Given the description of an element on the screen output the (x, y) to click on. 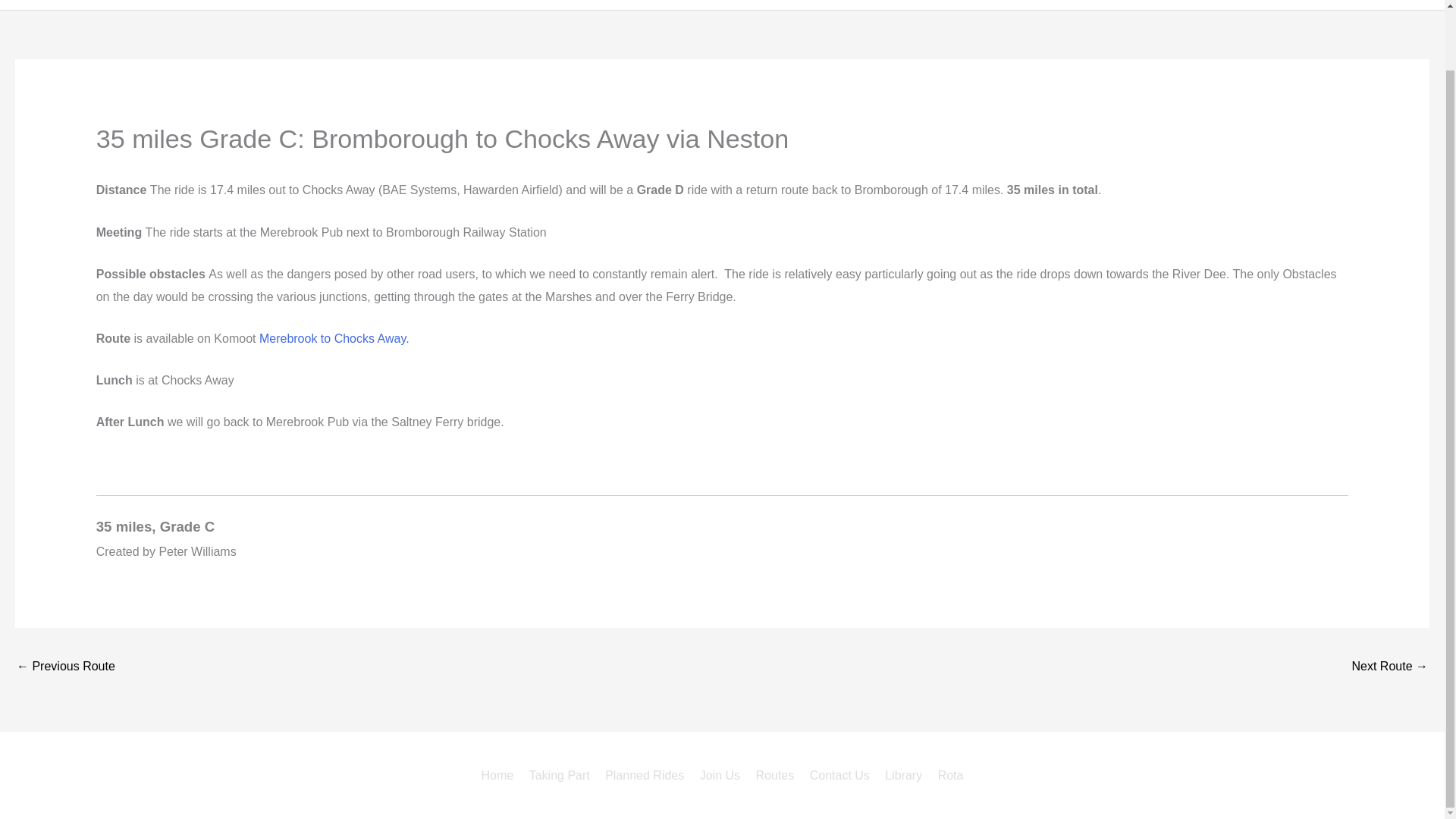
Home (500, 775)
Taking Part (558, 775)
Library (1347, 4)
Planned Rides (1054, 4)
Join Us (719, 775)
Library (903, 775)
Routes (1201, 4)
Contact Us (1275, 4)
Join Us (1138, 4)
Planned Rides (644, 775)
Merebrook to Chocks Away. (334, 338)
Home (889, 4)
25 miles, Grade D: Newcomers' Ride from Thornton Hough (65, 667)
Rota (1403, 4)
